Given the description of an element on the screen output the (x, y) to click on. 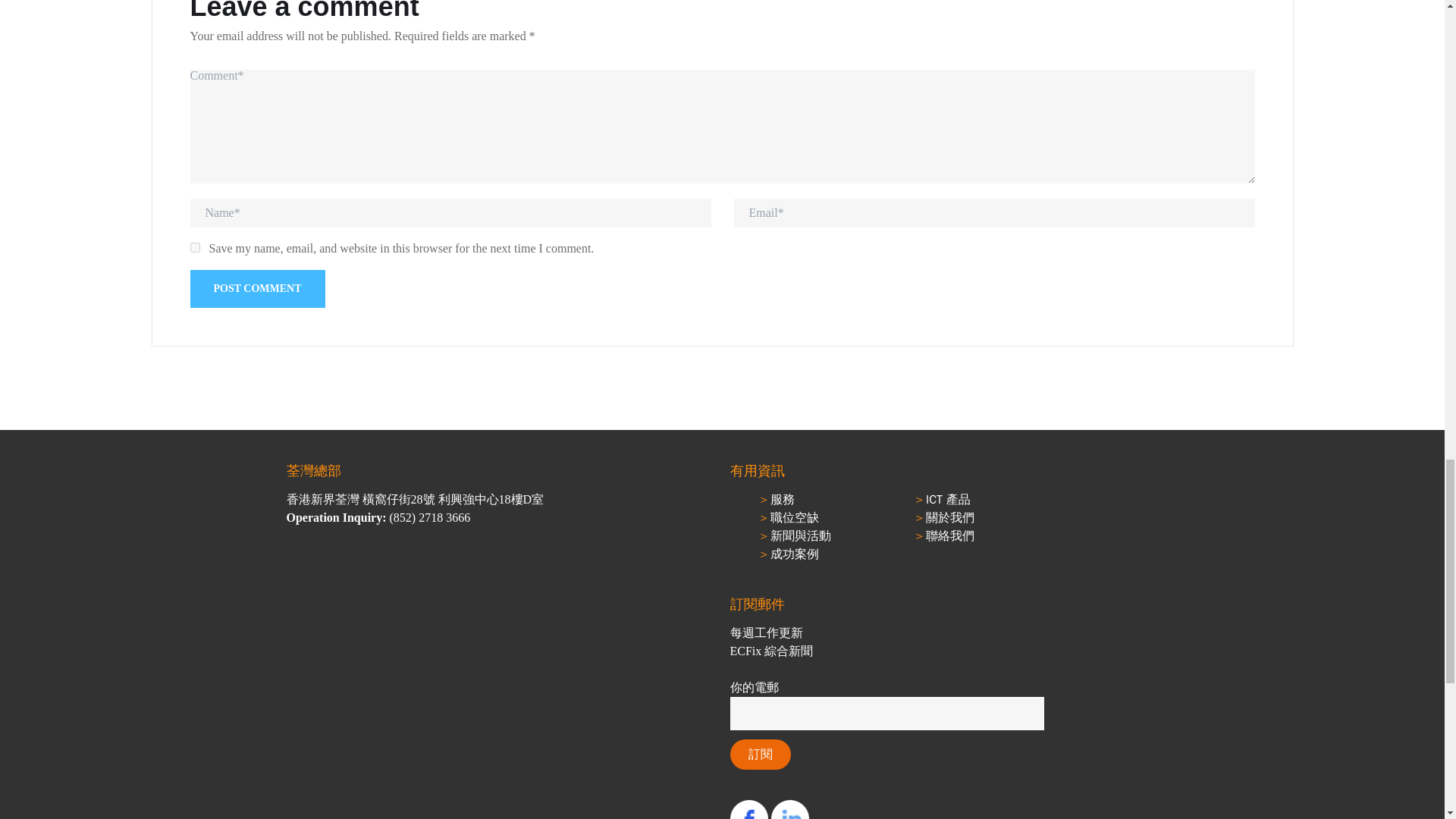
yes (194, 247)
Post Comment (256, 288)
